Given the description of an element on the screen output the (x, y) to click on. 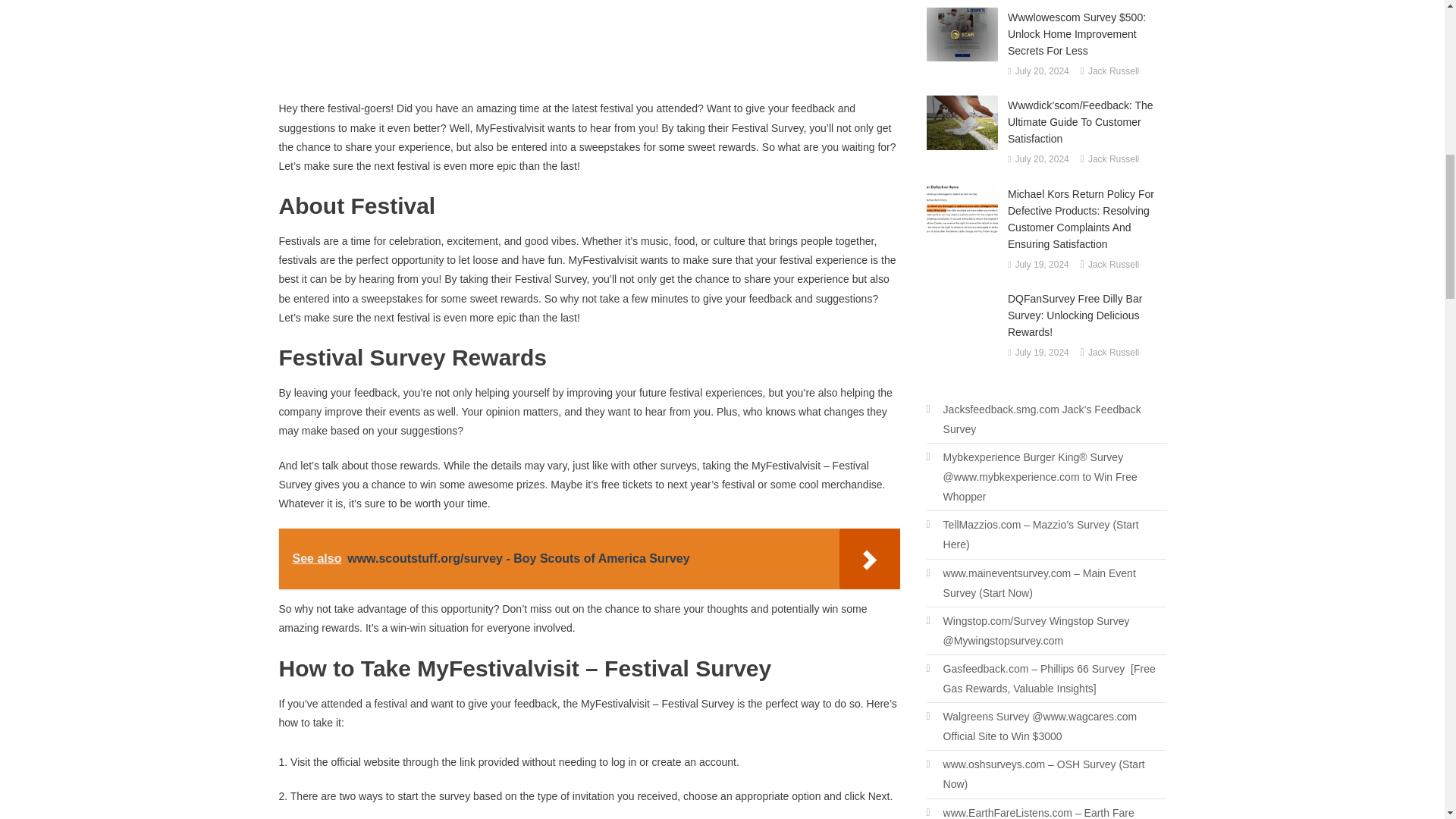
Advertisement (589, 49)
